Given the description of an element on the screen output the (x, y) to click on. 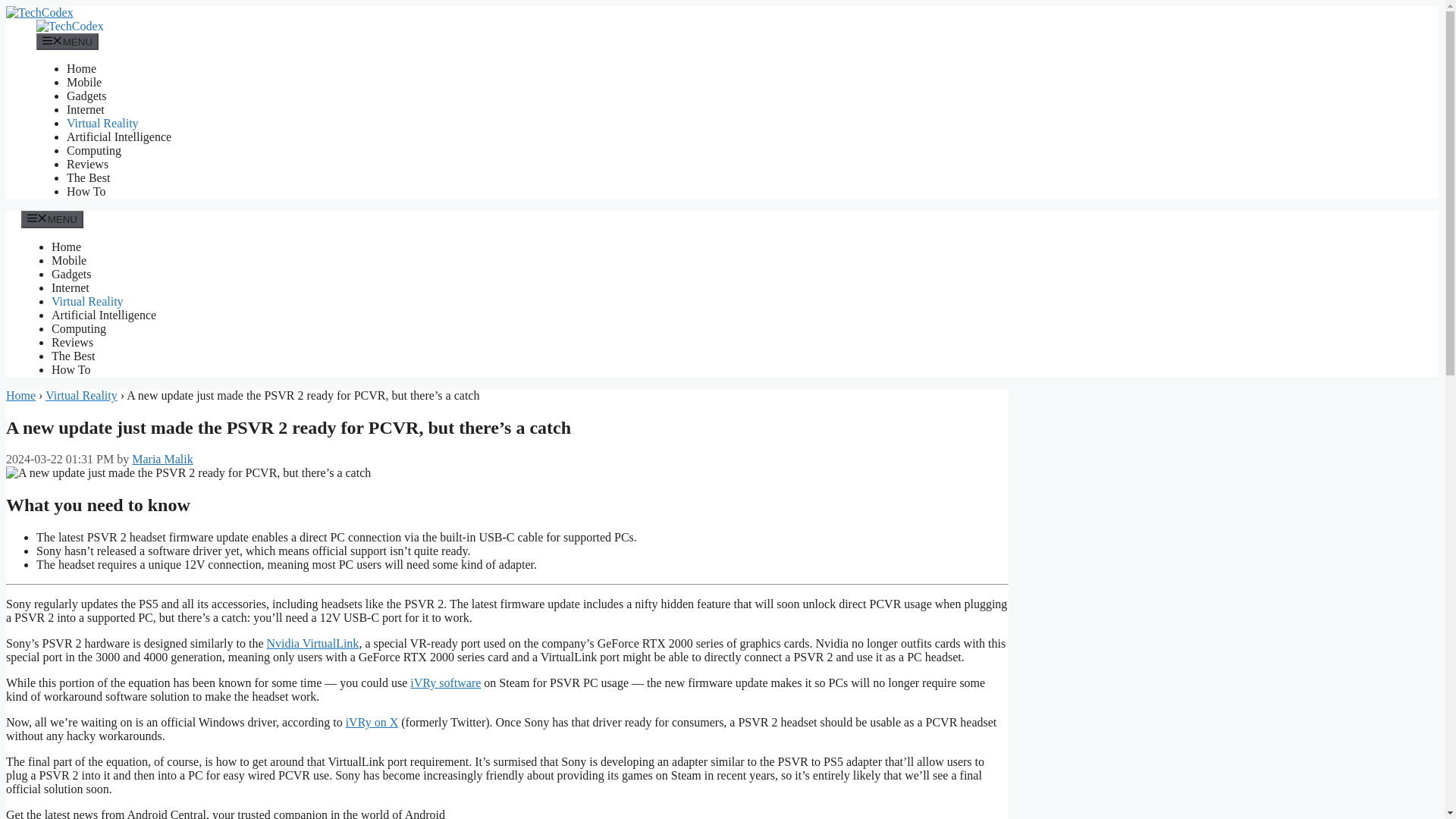
The Best (72, 355)
Home (19, 395)
Maria Malik (162, 459)
Virtual Reality (81, 395)
iVRy software (445, 682)
The Best (88, 177)
Virtual Reality (102, 123)
Home (65, 246)
Mobile (67, 259)
Virtual Reality (86, 300)
View all posts by Maria Malik (162, 459)
Gadgets (70, 273)
Reviews (86, 164)
